Given the description of an element on the screen output the (x, y) to click on. 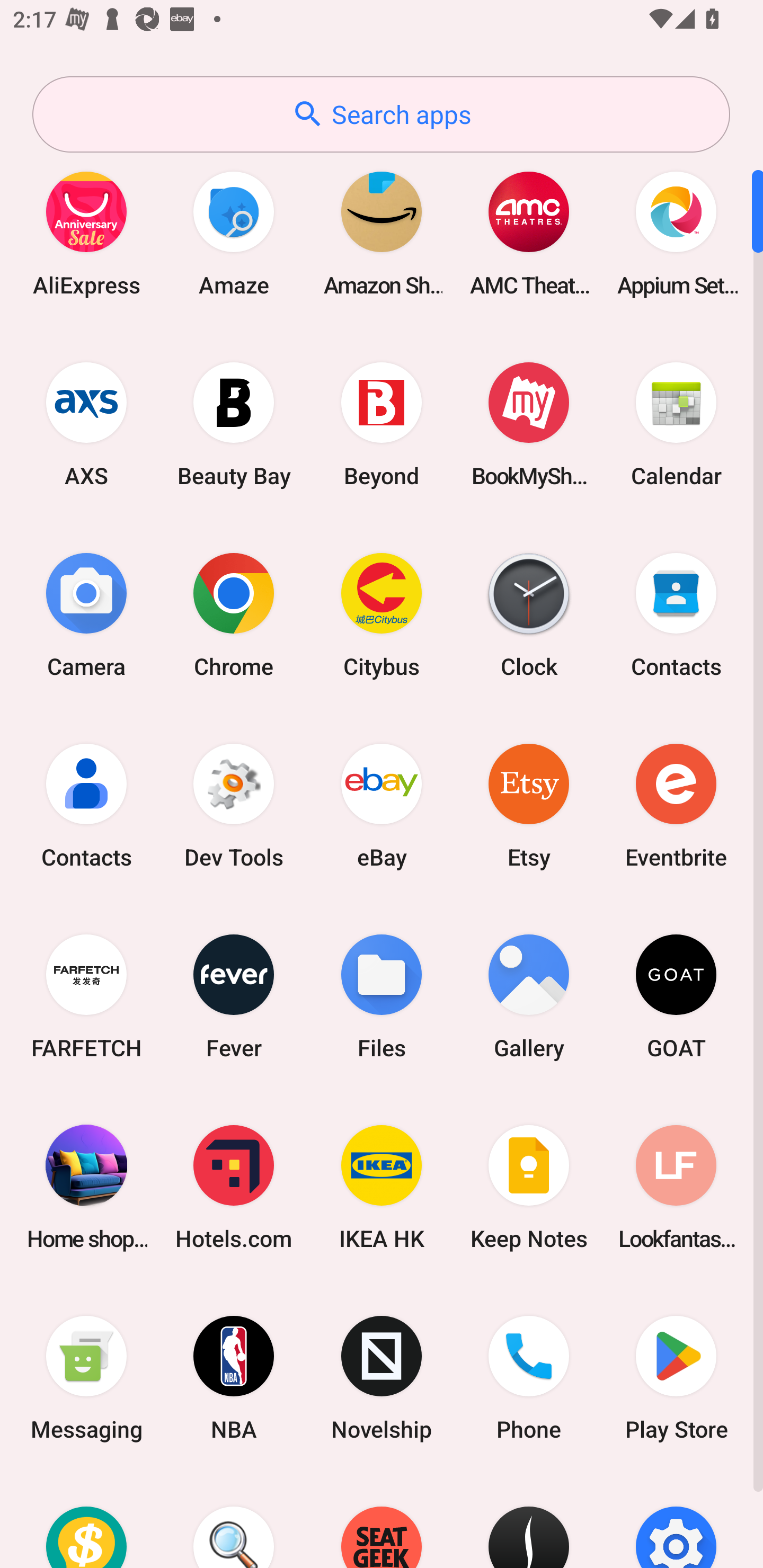
  Search apps (381, 114)
AliExpress (86, 233)
Amaze (233, 233)
Amazon Shopping (381, 233)
AMC Theatres (528, 233)
Appium Settings (676, 233)
AXS (86, 424)
Beauty Bay (233, 424)
Beyond (381, 424)
BookMyShow (528, 424)
Calendar (676, 424)
Camera (86, 614)
Chrome (233, 614)
Citybus (381, 614)
Clock (528, 614)
Contacts (676, 614)
Contacts (86, 805)
Dev Tools (233, 805)
eBay (381, 805)
Etsy (528, 805)
Eventbrite (676, 805)
FARFETCH (86, 996)
Fever (233, 996)
Files (381, 996)
Gallery (528, 996)
GOAT (676, 996)
Home shopping (86, 1186)
Hotels.com (233, 1186)
IKEA HK (381, 1186)
Keep Notes (528, 1186)
Lookfantastic (676, 1186)
Messaging (86, 1377)
NBA (233, 1377)
Novelship (381, 1377)
Phone (528, 1377)
Play Store (676, 1377)
